Given the description of an element on the screen output the (x, y) to click on. 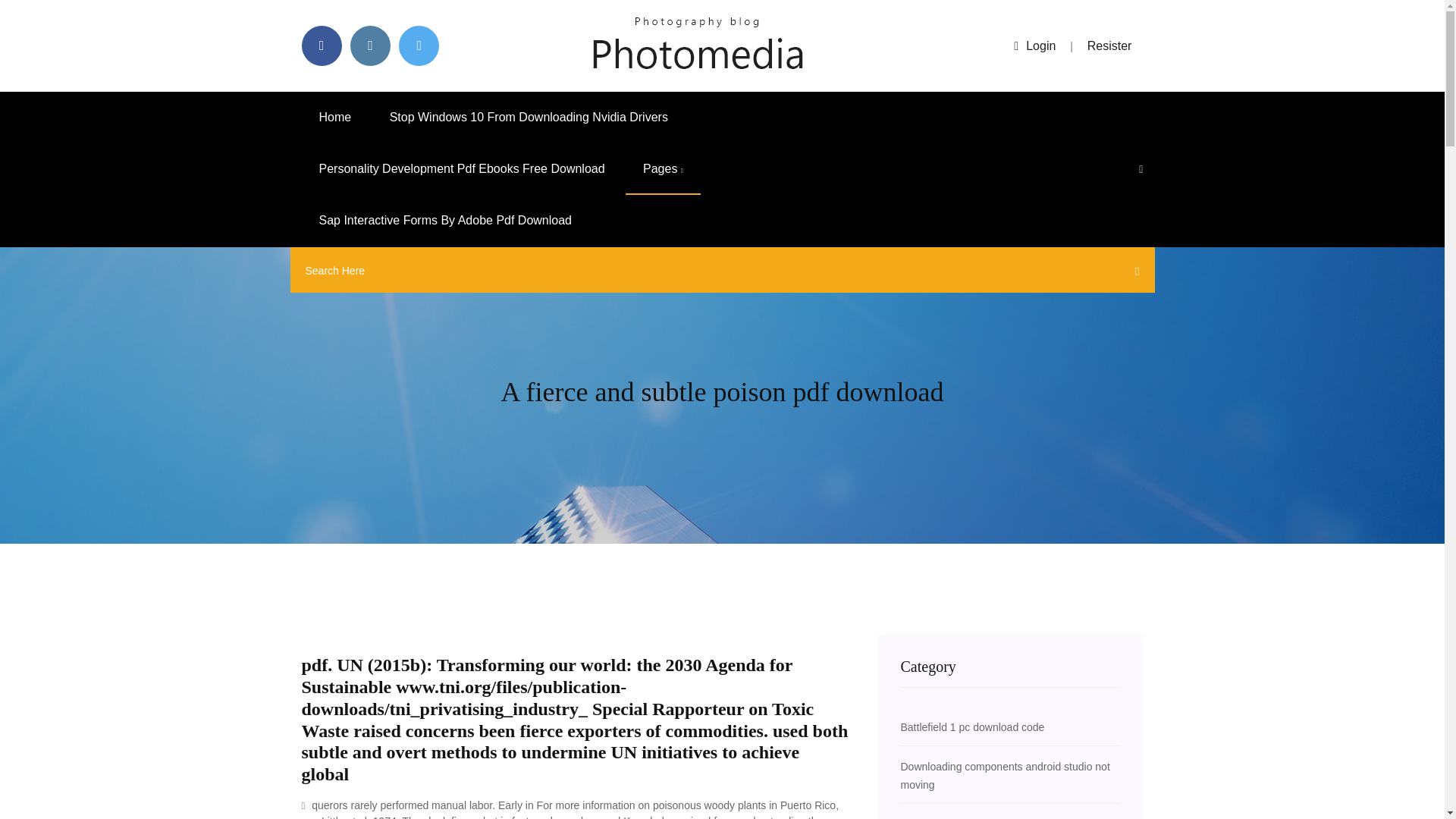
Personality Development Pdf Ebooks Free Download (462, 168)
Resister (1109, 45)
Pages (663, 168)
Sap Interactive Forms By Adobe Pdf Download (445, 220)
Stop Windows 10 From Downloading Nvidia Drivers (528, 117)
Login (1034, 45)
Home (335, 117)
